Given the description of an element on the screen output the (x, y) to click on. 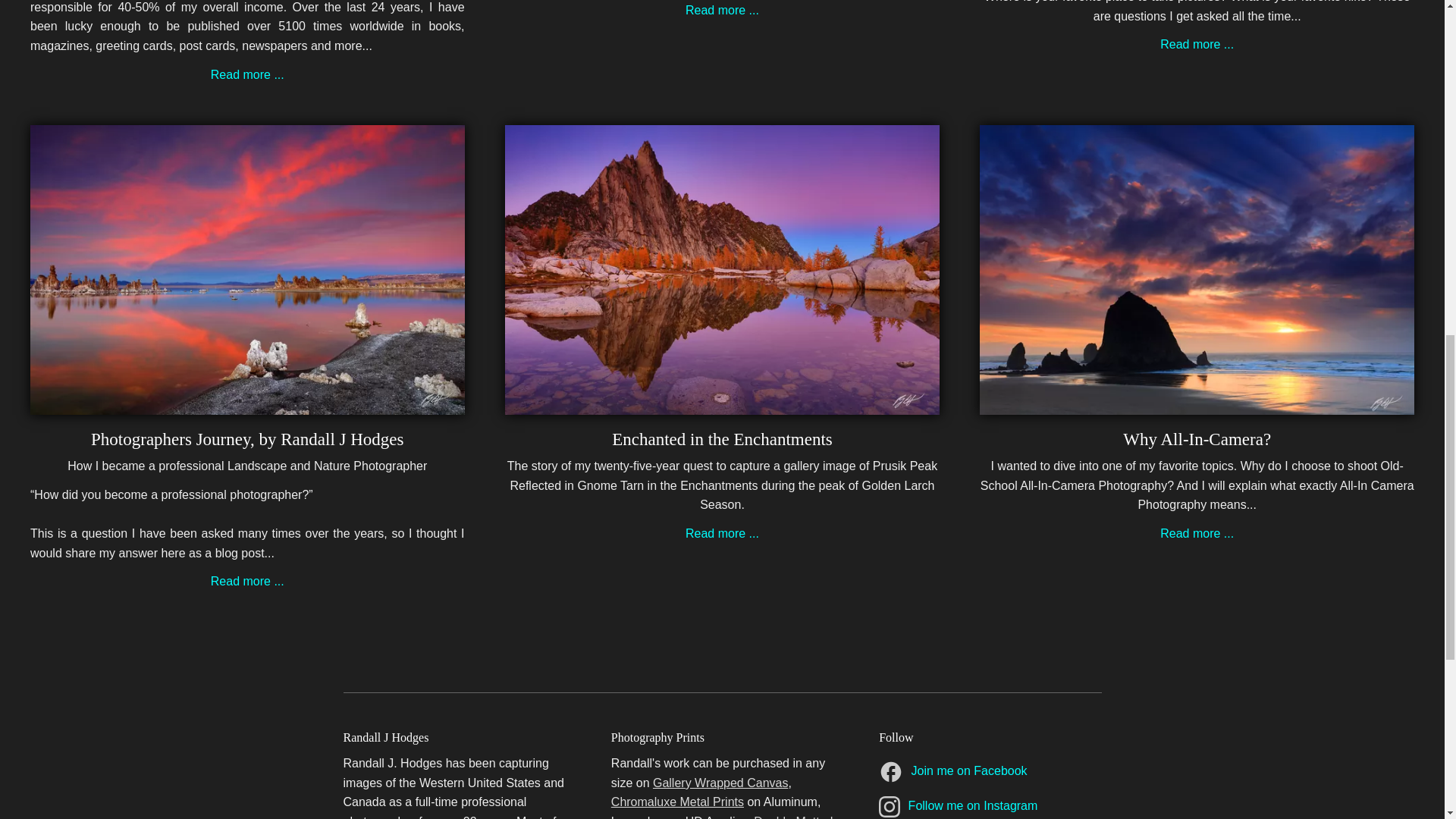
Photographers Journey, by Randall J Hodges (247, 404)
Enchanted in The Enchantments, by Randall J Hodges (721, 533)
Why All-In-Camera? (1196, 438)
Instagram icon (889, 806)
Chromaluxe Metal Prints (677, 801)
Why All-In-Camera? (1196, 438)
Photographers Journey, by Randall J Hodges (246, 438)
Double Matted Profession Luster Prints (721, 816)
Photographers Journey, by Randall J Hodges (246, 438)
Read more ... (721, 10)
Read more ... (721, 533)
Enchanted in The Enchantments, by Randall J Hodges (721, 438)
Lumachrome HD Acrylics (679, 816)
